Given the description of an element on the screen output the (x, y) to click on. 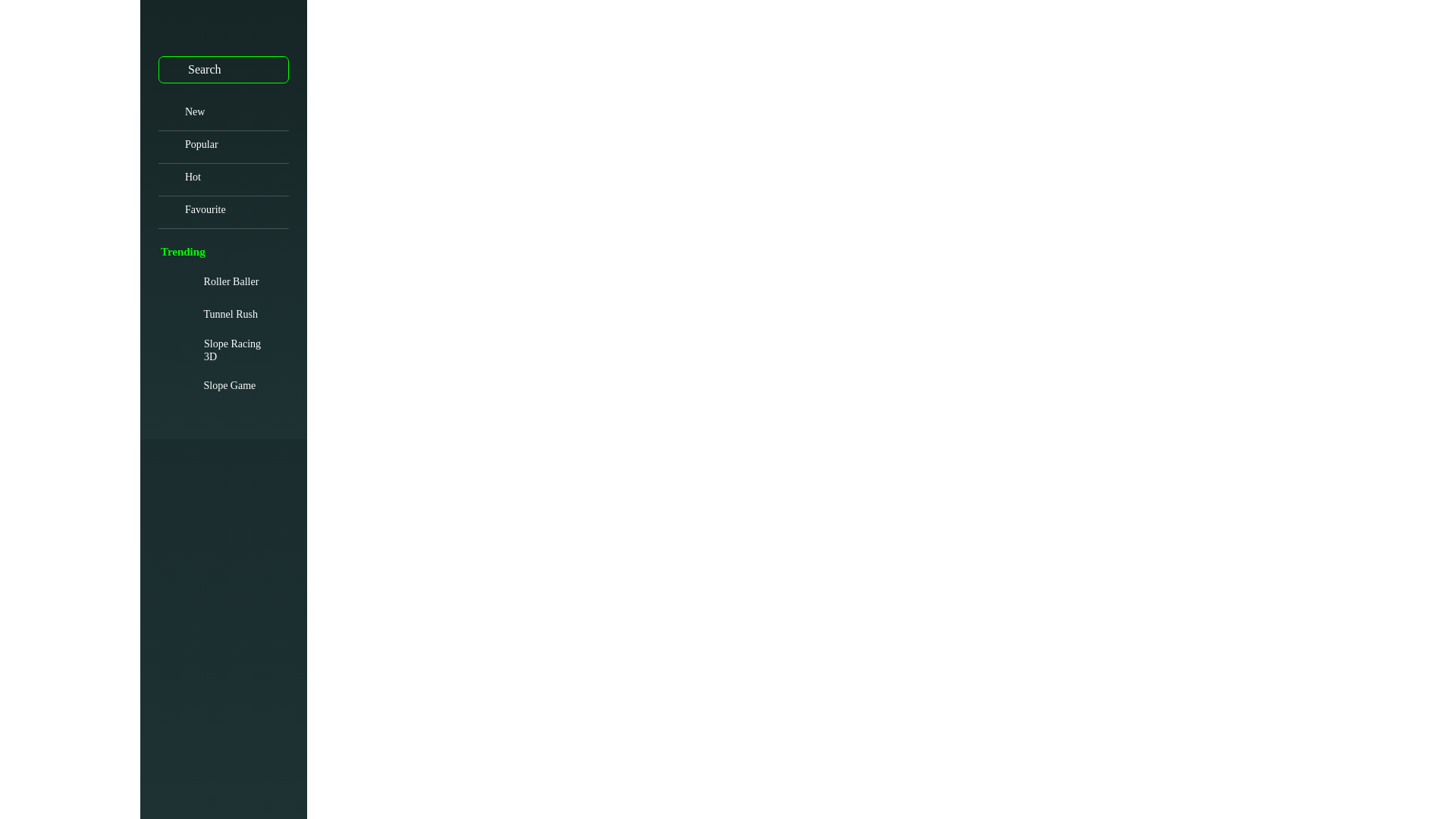
Slope Game (217, 385)
Tunnel Rush (218, 314)
Popular (223, 146)
Slope Racing 3D (223, 349)
Roller Baller (219, 280)
Search (172, 69)
Roller Baller (219, 280)
Tunnel Rush (218, 314)
New (223, 113)
Slope Game (223, 27)
